Given the description of an element on the screen output the (x, y) to click on. 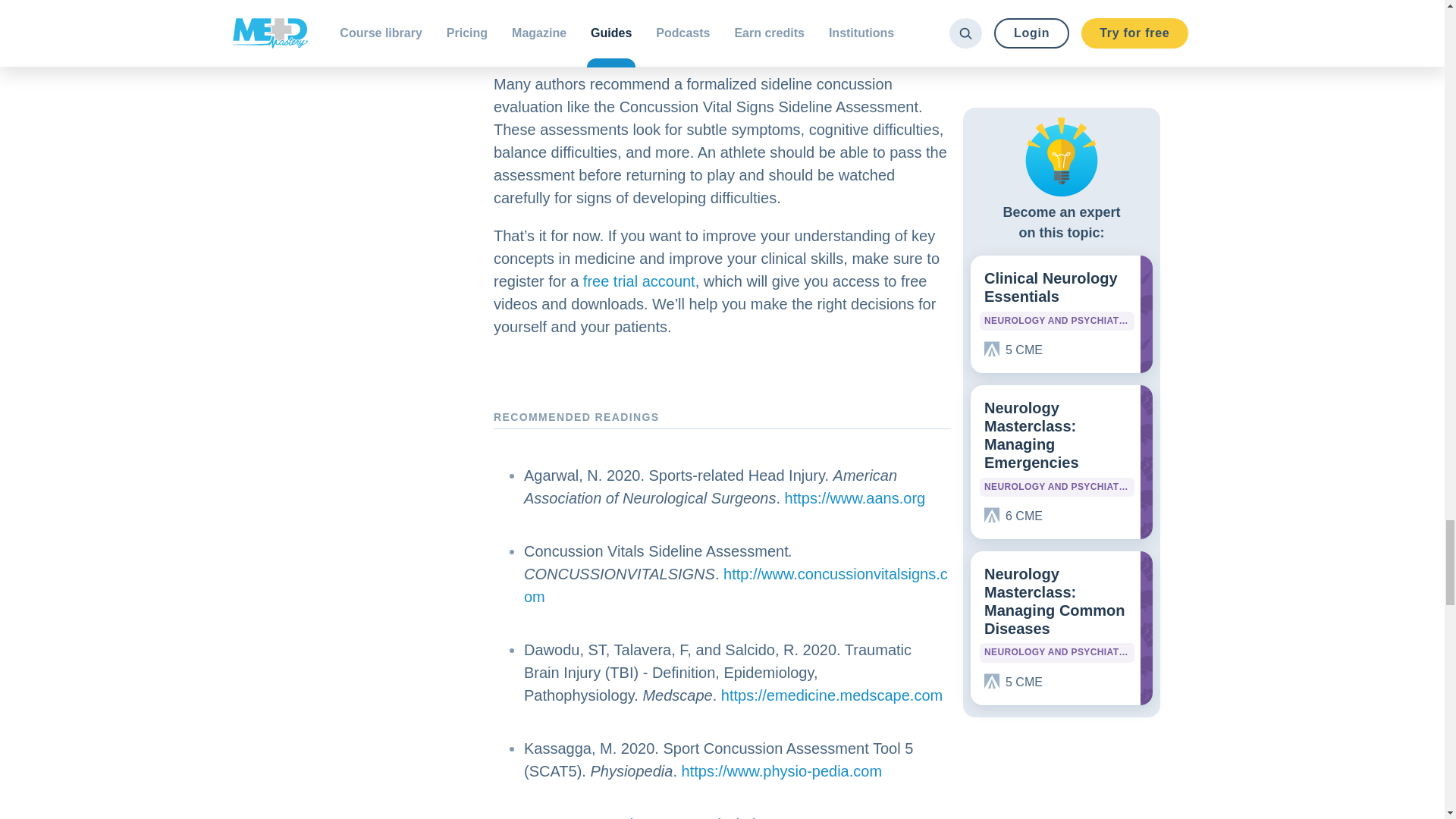
free trial account (639, 280)
